Given the description of an element on the screen output the (x, y) to click on. 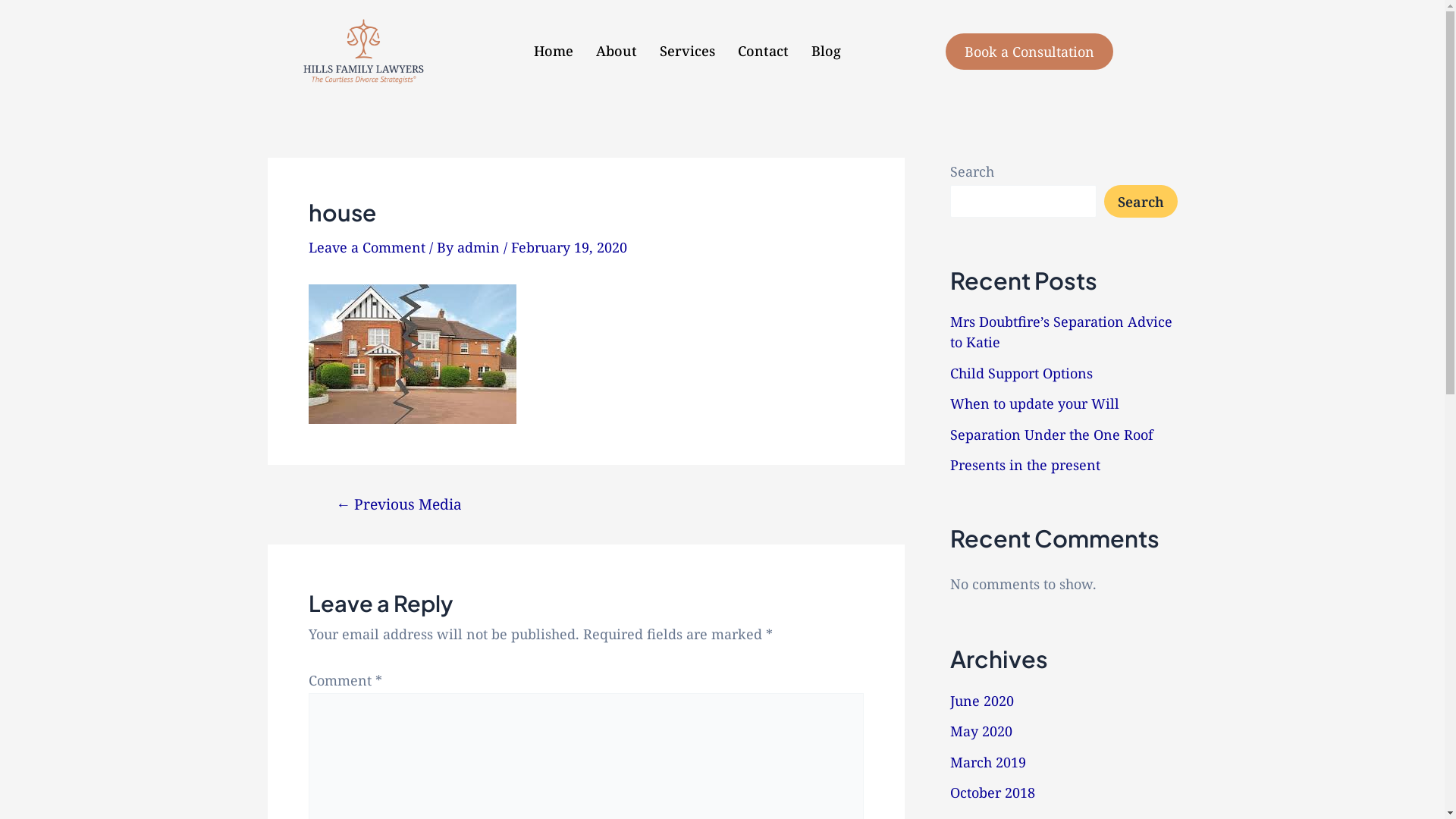
June 2020 Element type: text (981, 700)
Presents in the present Element type: text (1024, 464)
admin Element type: text (479, 247)
Blog Element type: text (826, 50)
March 2019 Element type: text (987, 762)
Book a Consultation Element type: text (1029, 51)
Home Element type: text (553, 50)
May 2020 Element type: text (980, 730)
October 2018 Element type: text (991, 792)
Leave a Comment Element type: text (365, 247)
About Element type: text (616, 50)
When to update your Will Element type: text (1033, 403)
Contact Element type: text (763, 50)
Separation Under the One Roof Element type: text (1050, 434)
Child Support Options Element type: text (1020, 373)
Services Element type: text (687, 50)
Search Element type: text (1140, 201)
